Given the description of an element on the screen output the (x, y) to click on. 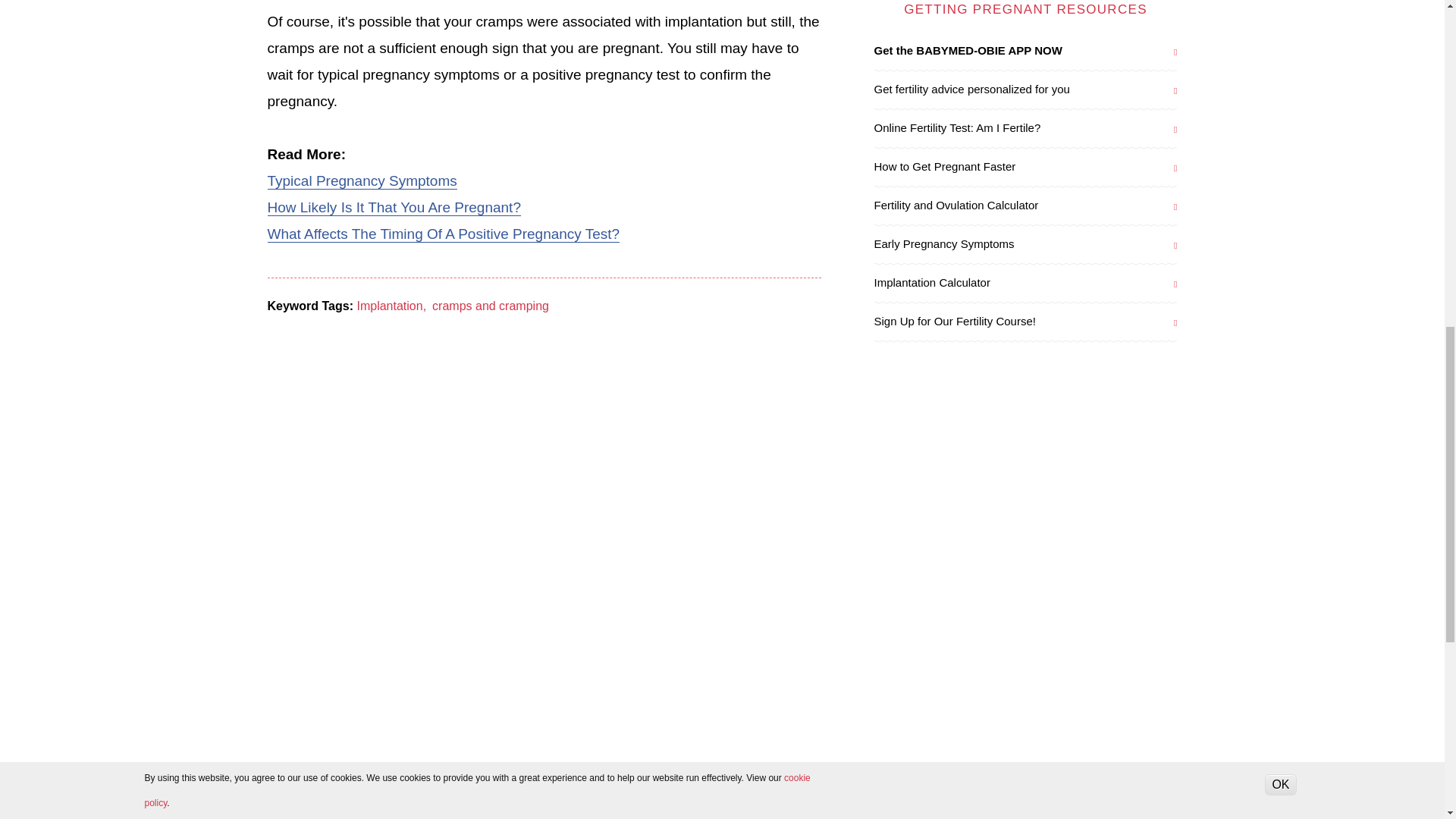
cramps and cramping (490, 305)
How Likely Is It That You Are Pregnant? (392, 207)
Typical Pregnancy Symptoms (361, 180)
Implantation (389, 305)
3rd party ad content (544, 370)
When does pregnancy test become positive? (443, 234)
Pregnancy Chance Calculator (392, 207)
typical early pregnancy symptoms (361, 180)
What Affects The Timing Of A Positive Pregnancy Test? (443, 234)
